Given the description of an element on the screen output the (x, y) to click on. 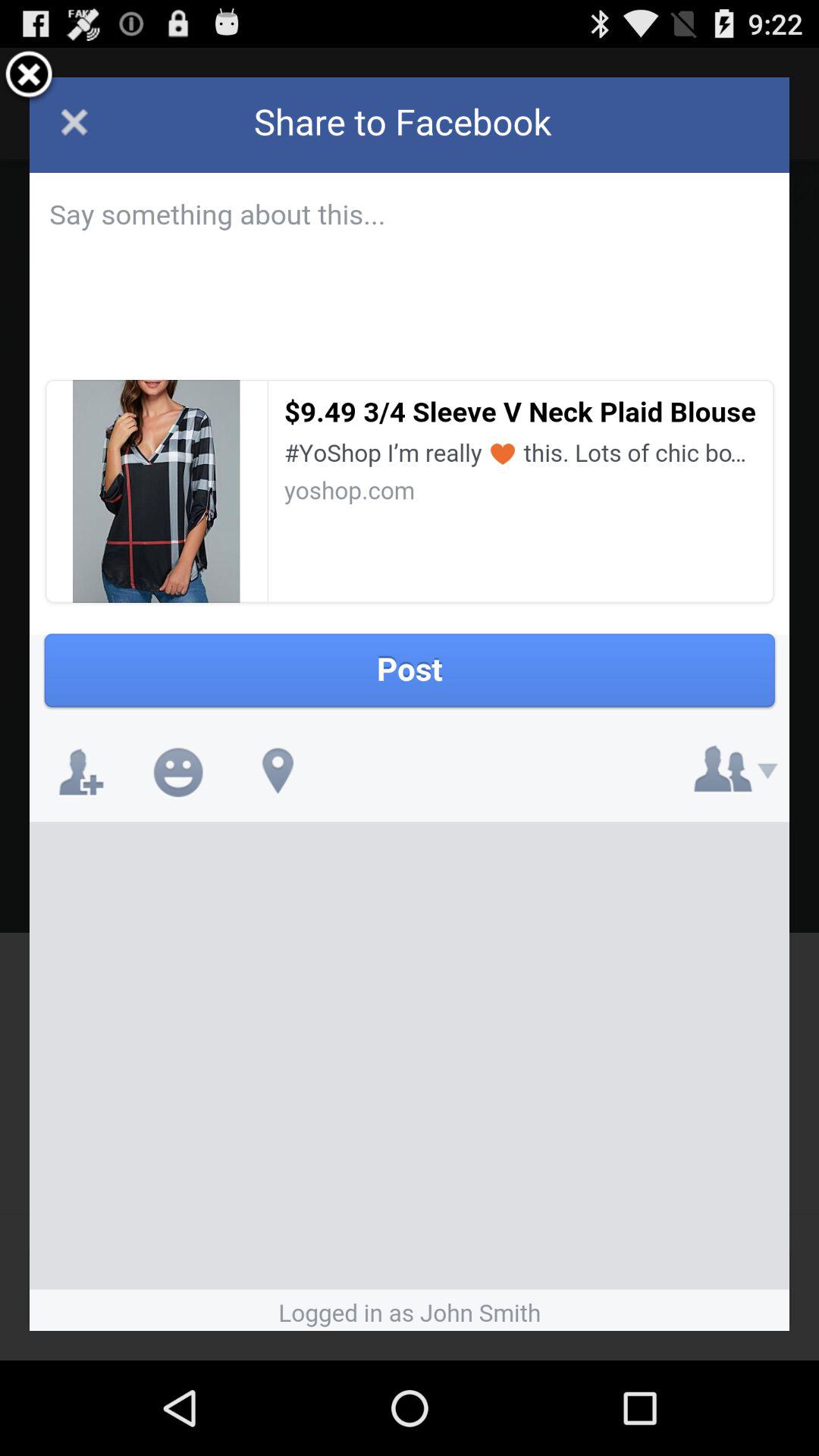
close the app (29, 76)
